Given the description of an element on the screen output the (x, y) to click on. 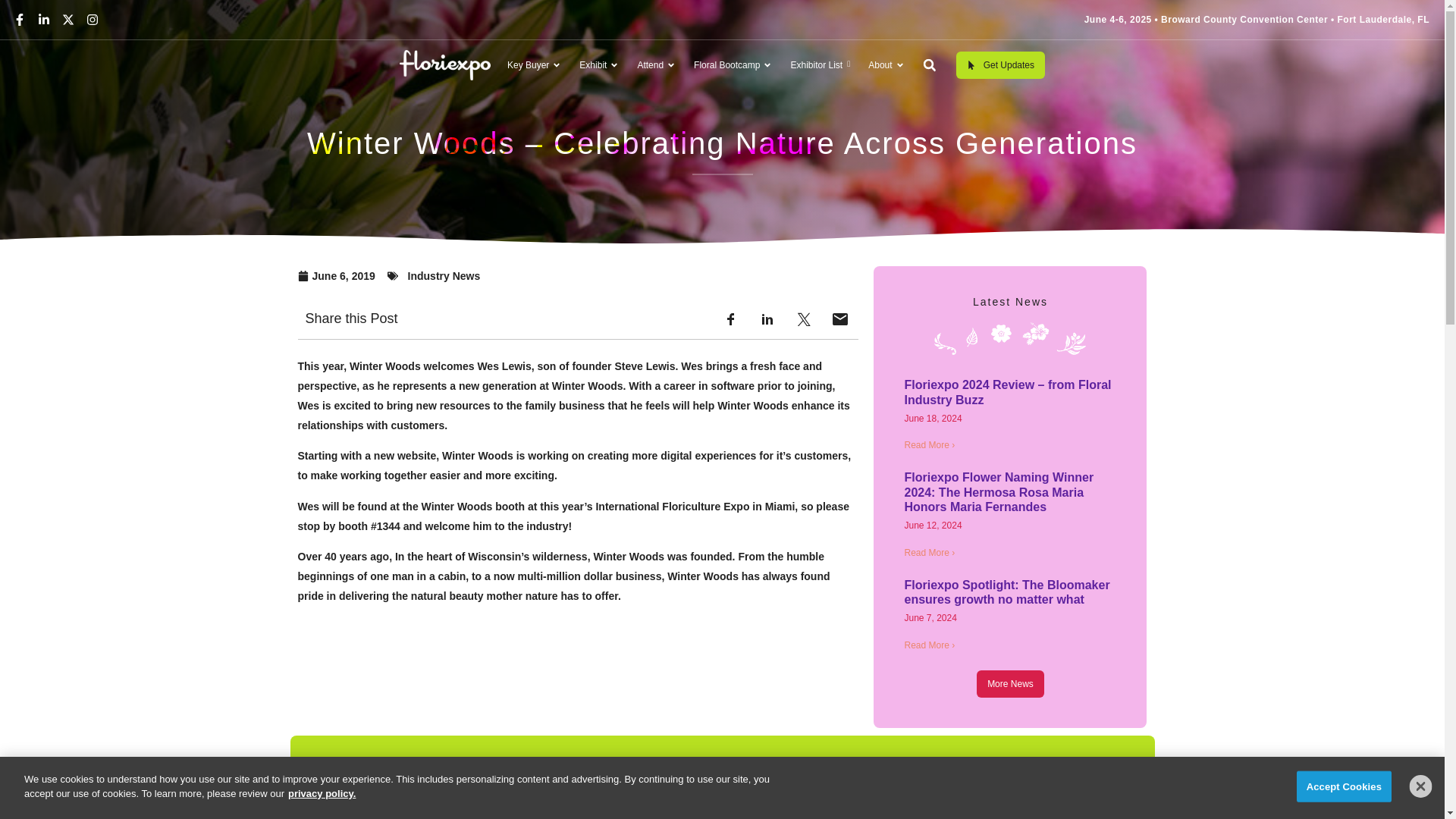
Exhibitor List (819, 68)
Attend (655, 80)
About (885, 67)
Floral Bootcamp (732, 69)
Floriexpo (444, 65)
Exhibit (598, 93)
Key Buyer (533, 102)
